Given the description of an element on the screen output the (x, y) to click on. 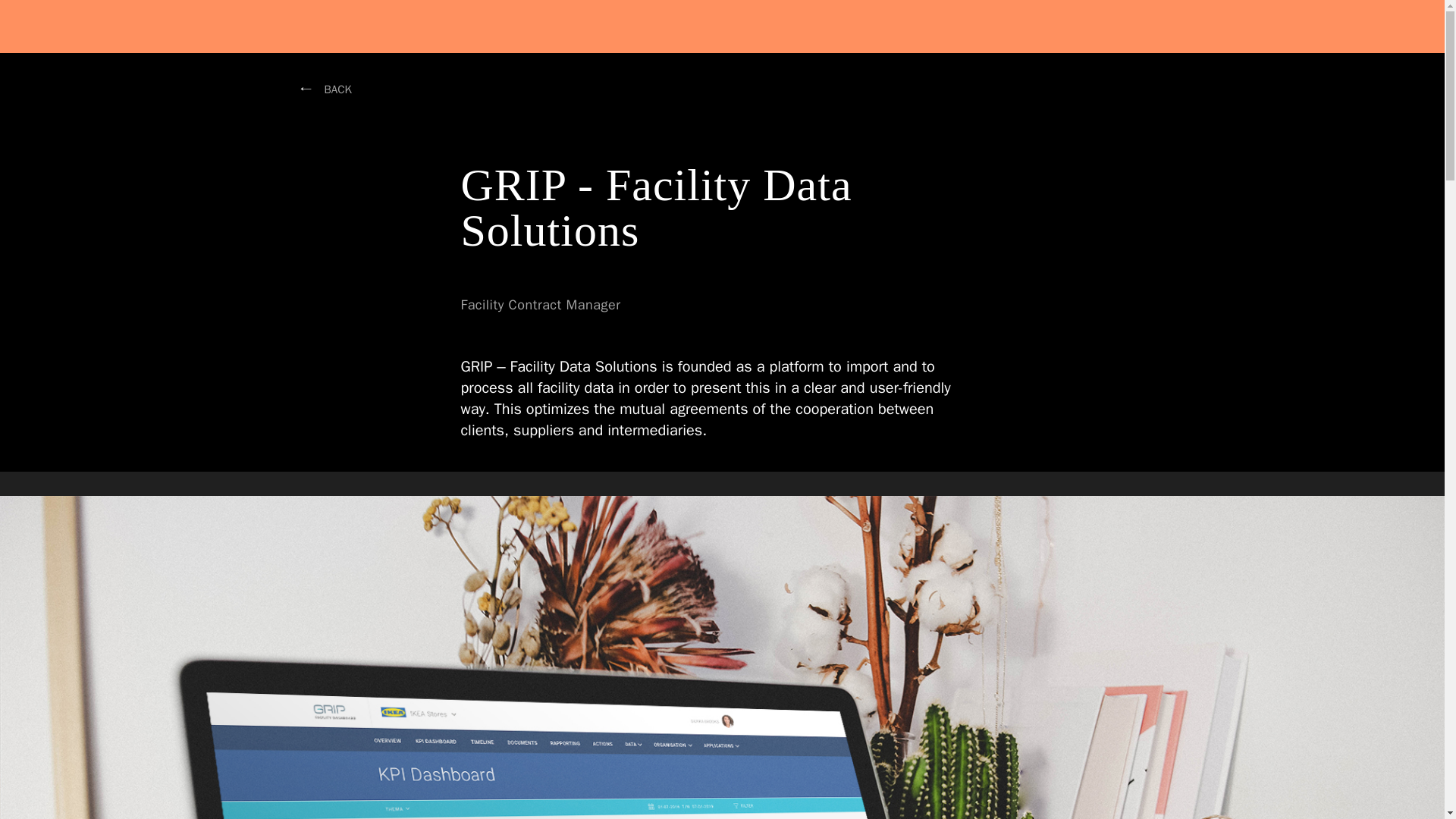
BACK (338, 89)
BACK (338, 89)
